Given the description of an element on the screen output the (x, y) to click on. 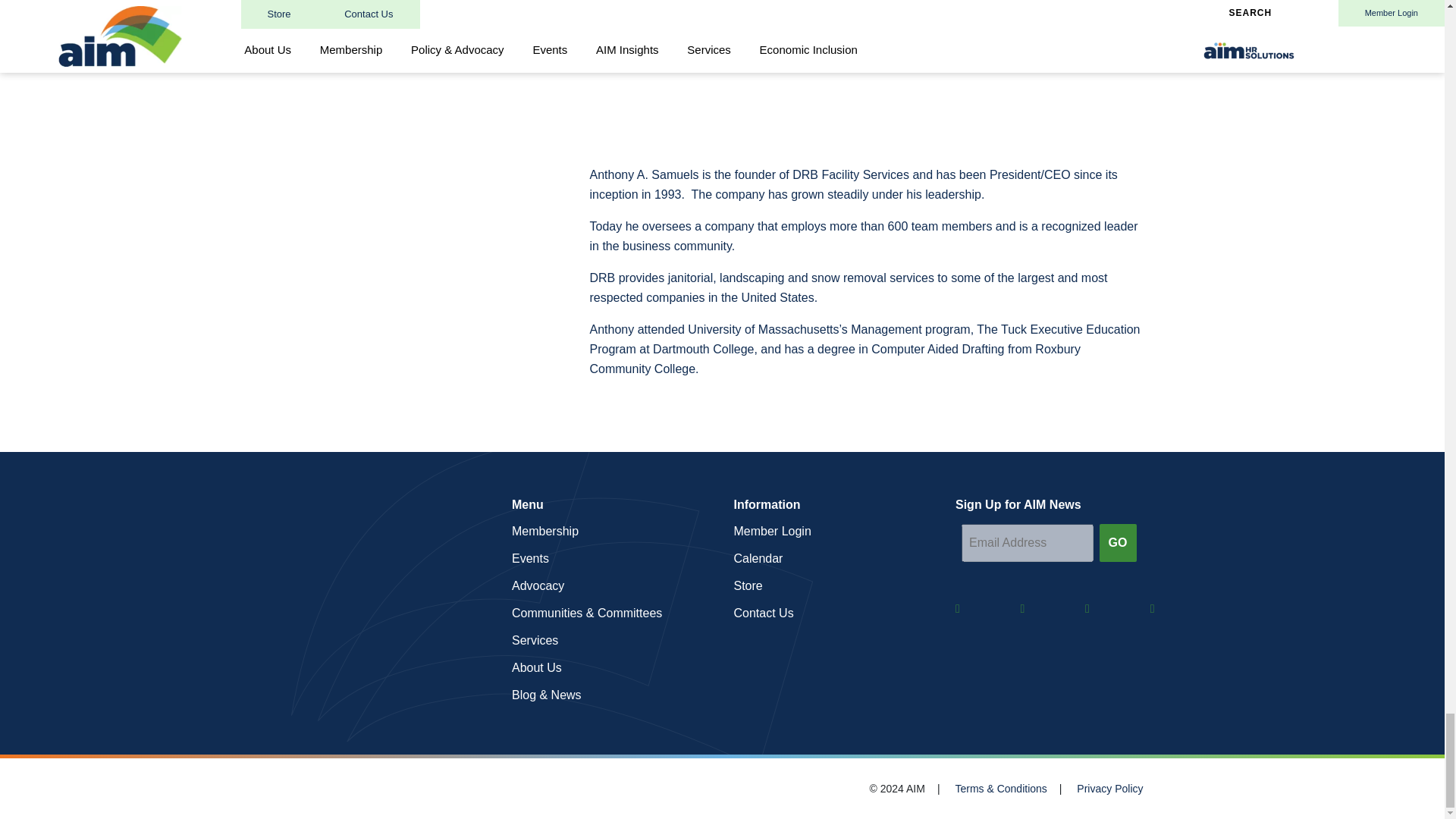
GO (1118, 542)
